Given the description of an element on the screen output the (x, y) to click on. 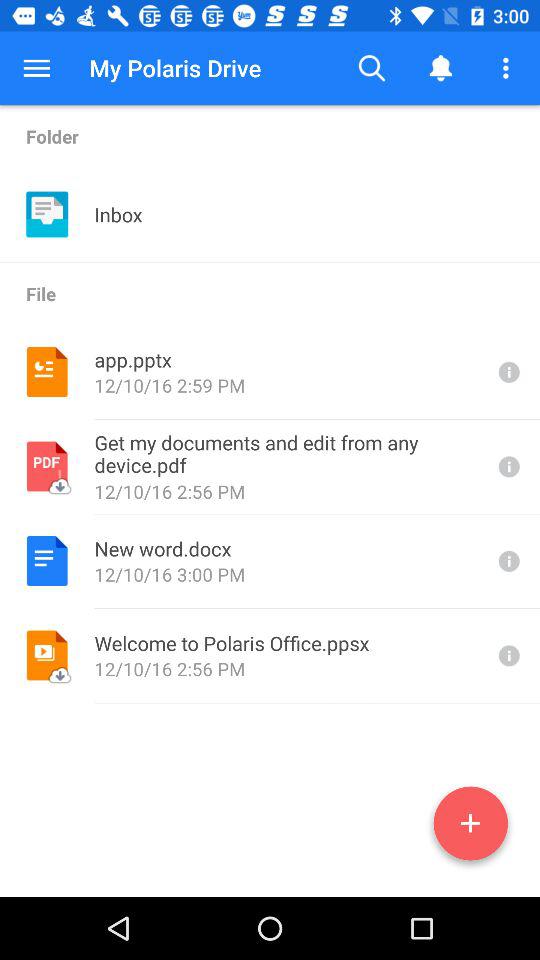
add info (470, 827)
